Given the description of an element on the screen output the (x, y) to click on. 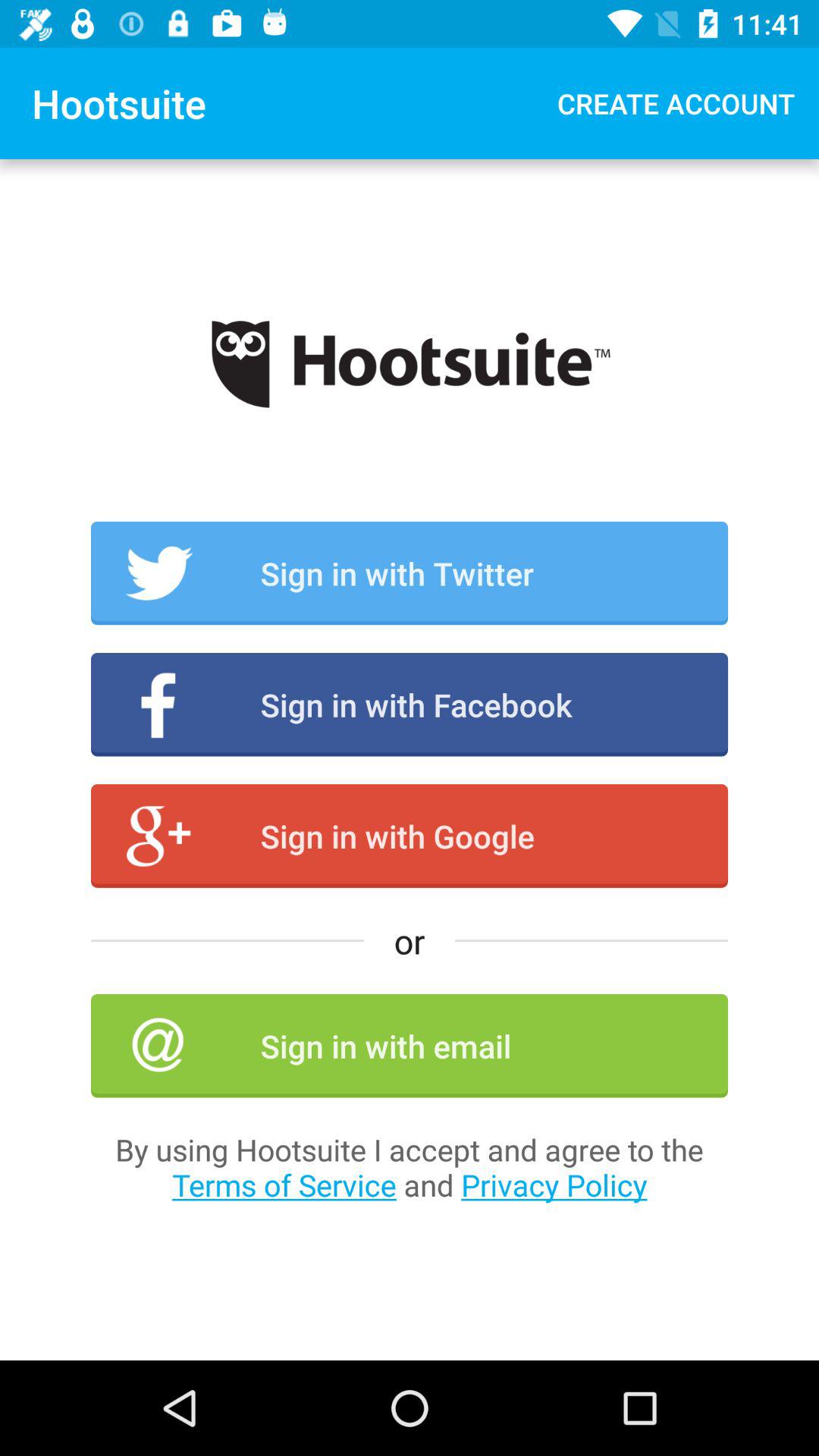
jump until by using hootsuite item (409, 1167)
